Given the description of an element on the screen output the (x, y) to click on. 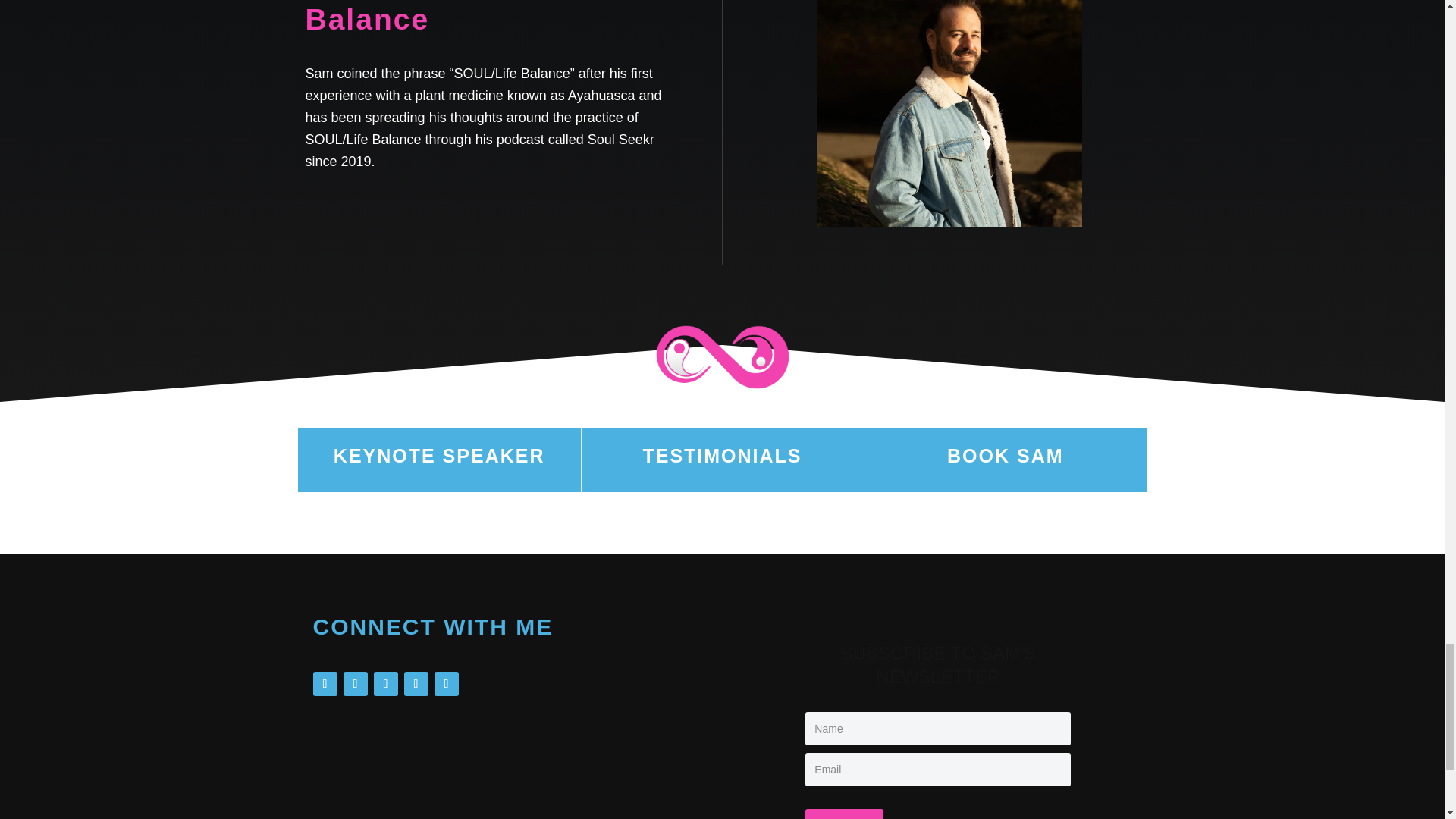
Follow on Instagram (324, 683)
Follow on LinkedIn (354, 683)
skphotodump-8 (948, 113)
Follow on Facebook (384, 683)
Infinity Yang2 (722, 356)
